Given the description of an element on the screen output the (x, y) to click on. 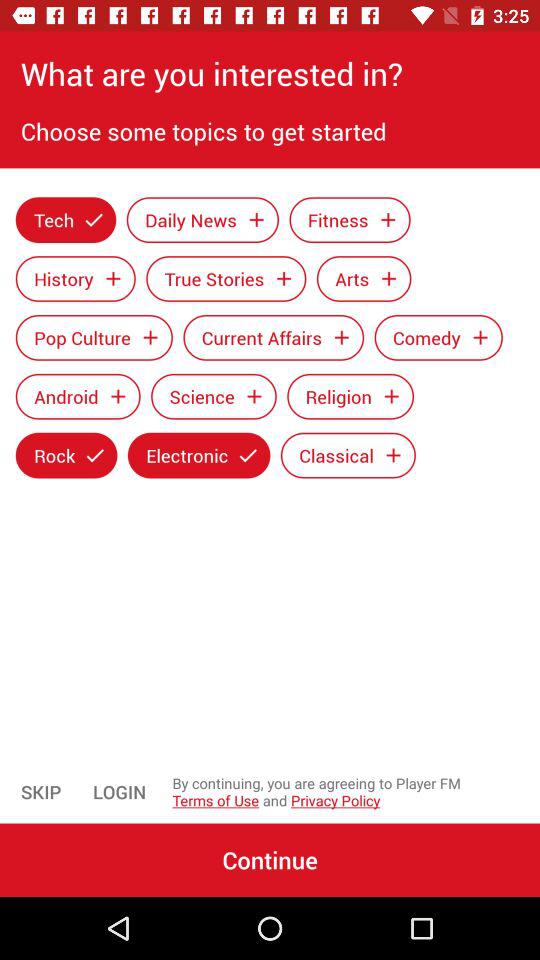
select continue icon (270, 859)
